Given the description of an element on the screen output the (x, y) to click on. 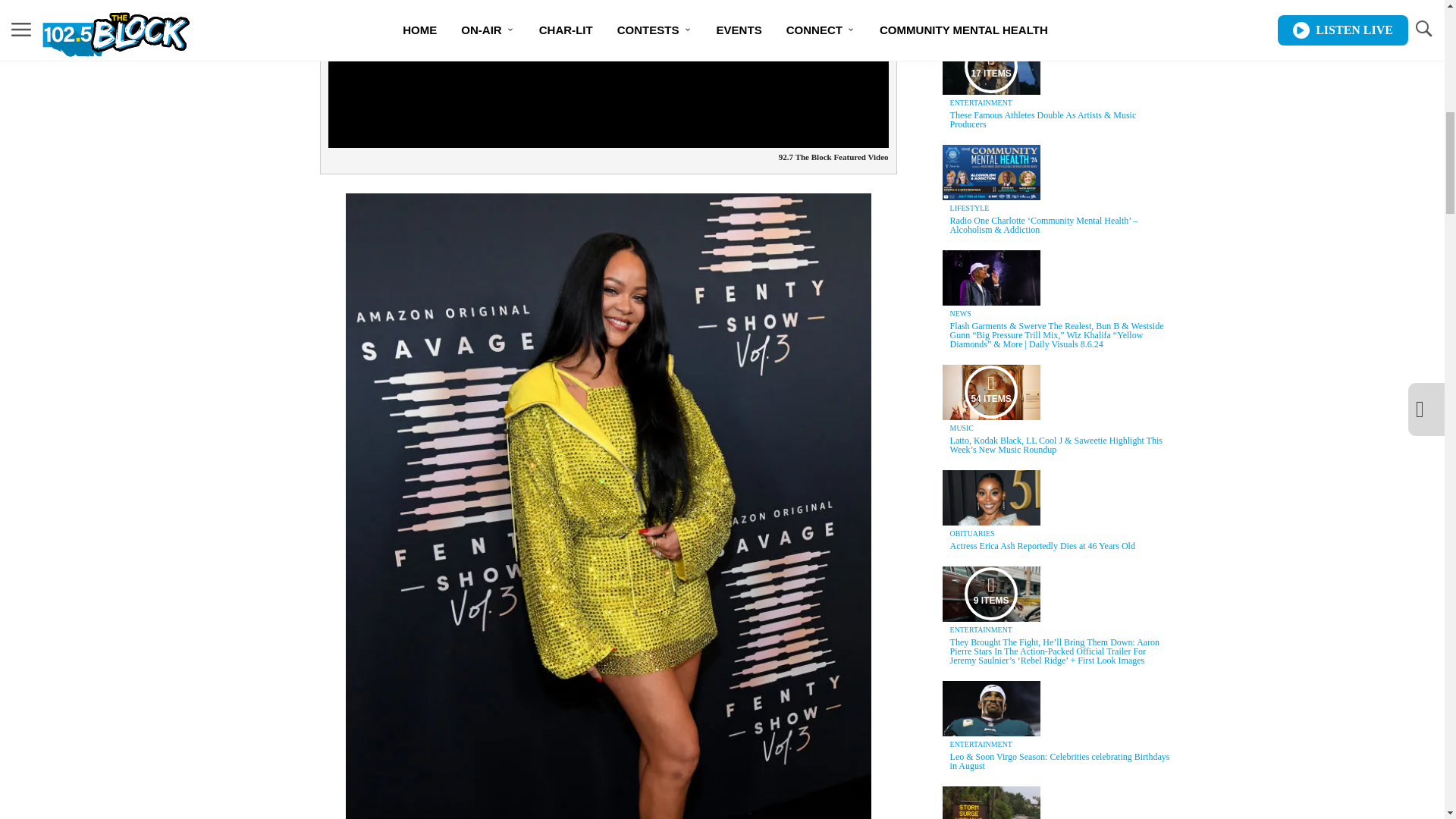
Media Playlist (990, 391)
ENTERTAINMENT (980, 102)
Media Playlist (990, 593)
Media Playlist (990, 66)
17 ITEMS (991, 67)
